Given the description of an element on the screen output the (x, y) to click on. 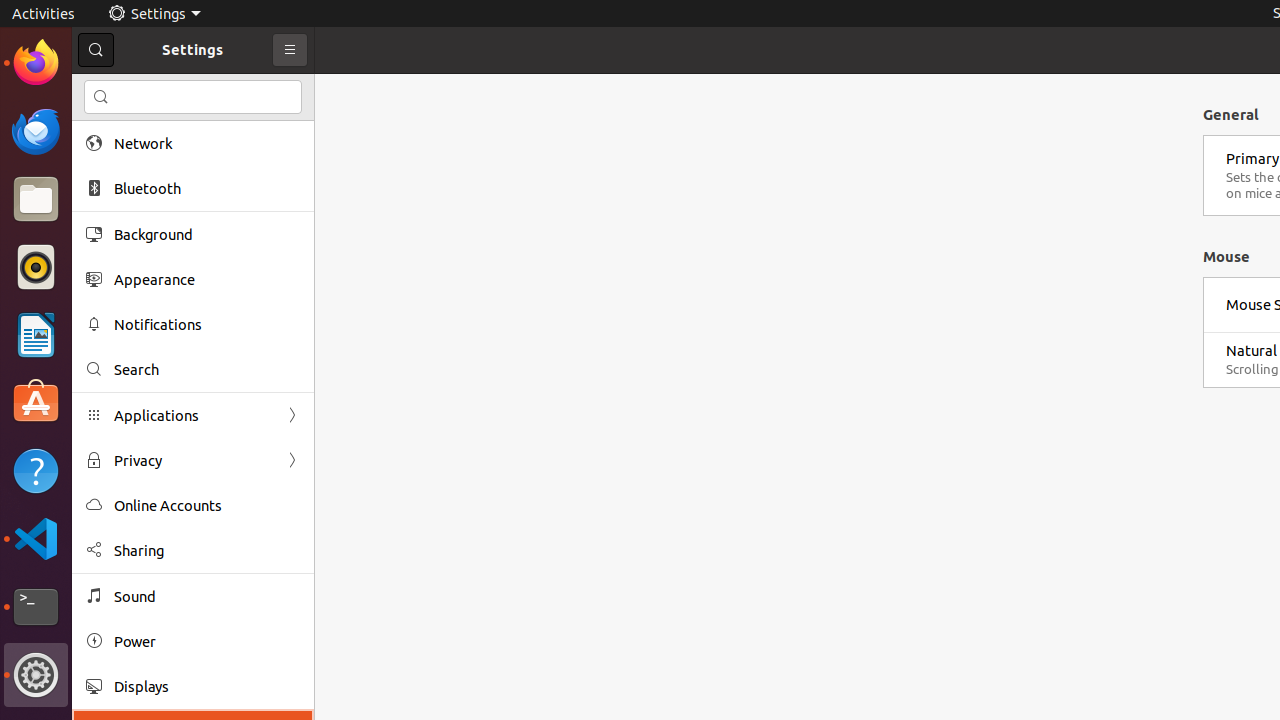
Displays Element type: label (207, 686)
General Element type: label (1231, 114)
edit-find-symbolic Element type: icon (101, 97)
Applications Element type: label (193, 415)
Bluetooth Element type: label (207, 188)
